Given the description of an element on the screen output the (x, y) to click on. 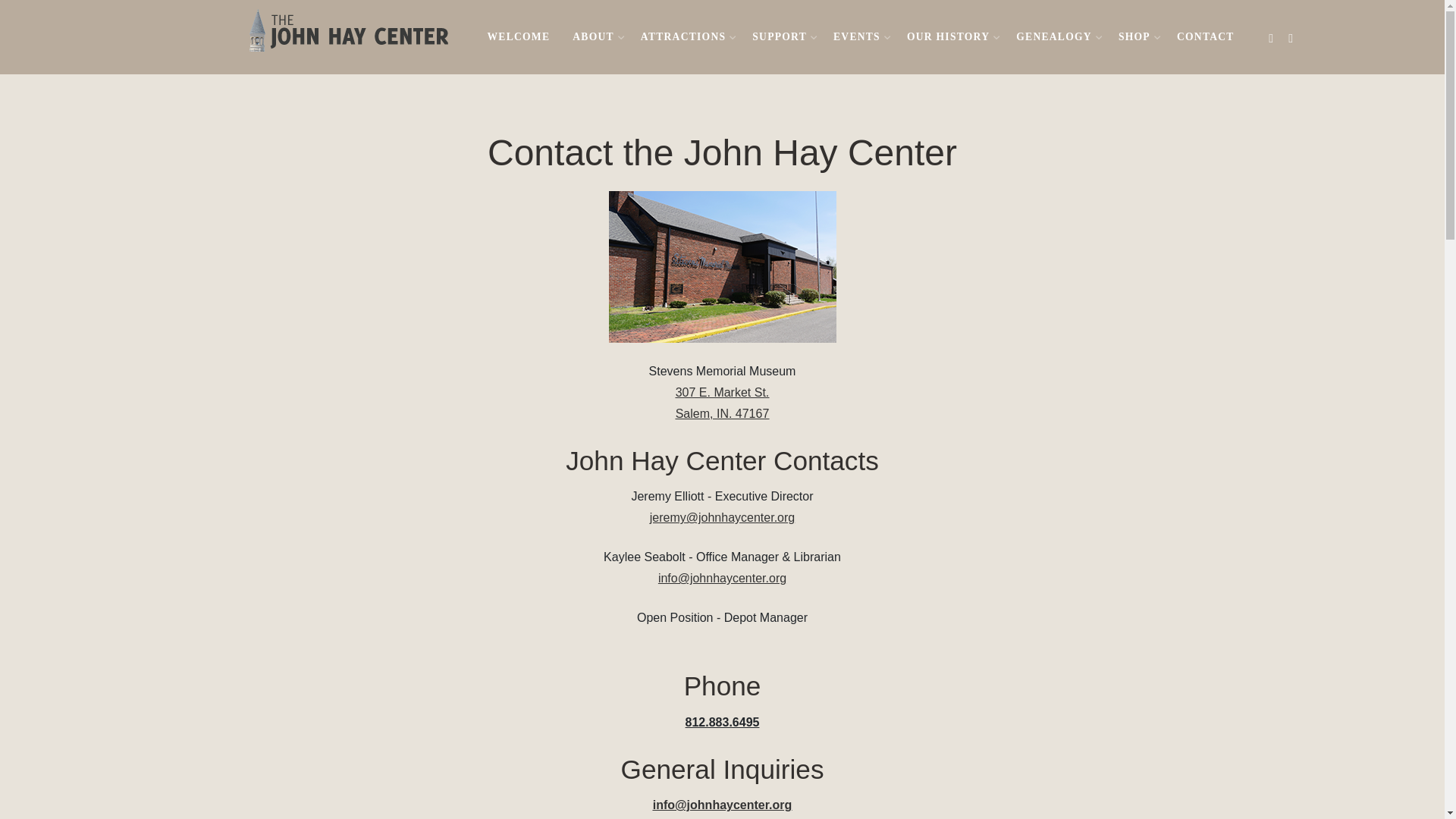
Instagram (1290, 37)
Instagram (1290, 37)
WELCOME (518, 36)
John Hay Center (345, 29)
CONTACT (1205, 36)
Facebook (1271, 37)
Facebook (1271, 37)
